Given the description of an element on the screen output the (x, y) to click on. 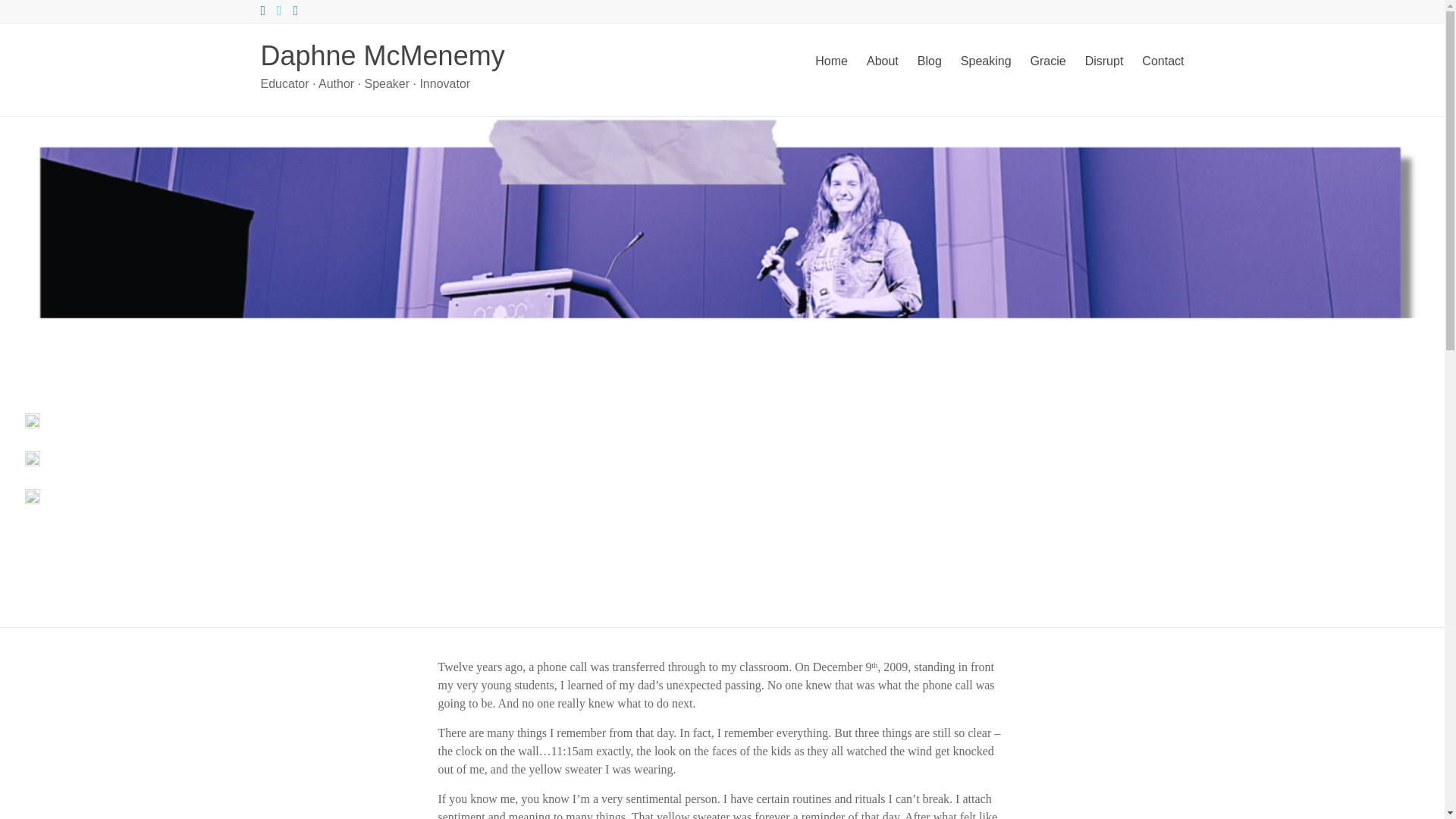
Daphne McMenemy (382, 55)
Daphne McMenemy (382, 55)
Home (831, 60)
About (882, 60)
Contact (1162, 60)
Blog (929, 60)
Gracie (1047, 60)
Disrupt (1104, 60)
Speaking (985, 60)
